Given the description of an element on the screen output the (x, y) to click on. 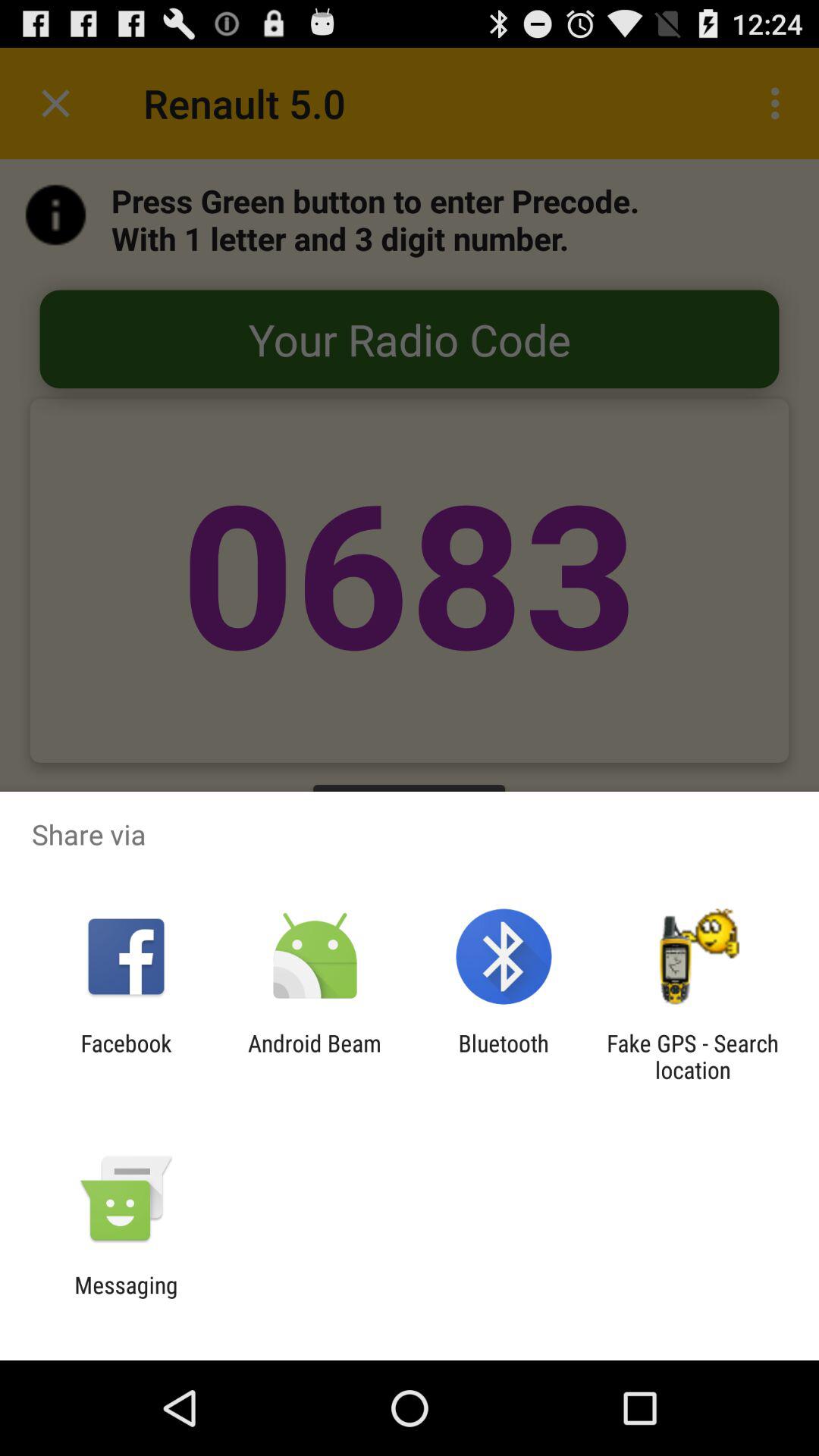
open icon next to bluetooth app (692, 1056)
